Given the description of an element on the screen output the (x, y) to click on. 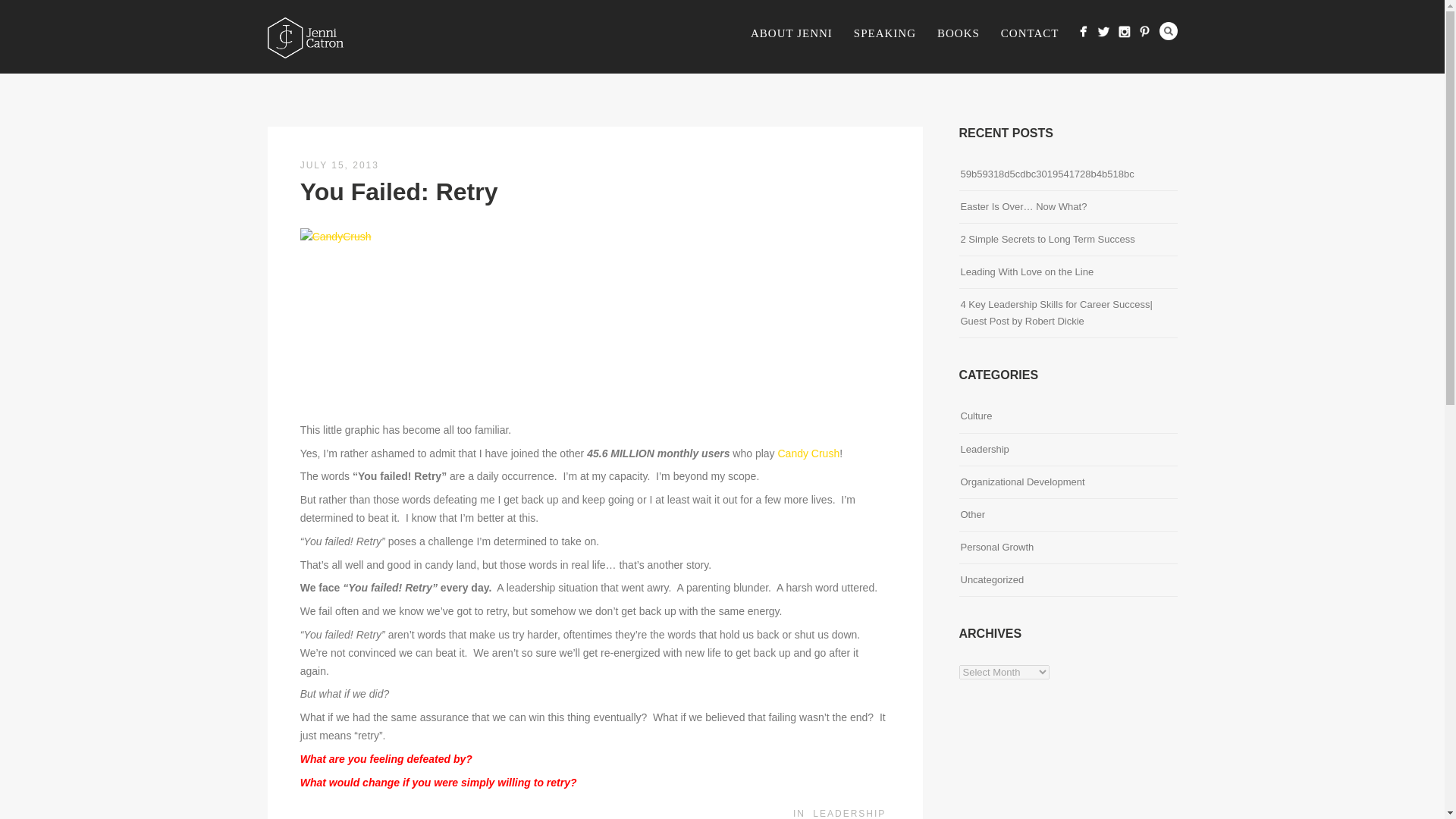
Culture (975, 415)
CONTACT (1030, 33)
59b59318d5cdbc3019541728b4b518bc (1046, 173)
ABOUT JENNI (791, 33)
Organizational Development (1021, 481)
BOOKS (958, 33)
Leading With Love on the Line (1026, 271)
2 Simple Secrets to Long Term Success (1046, 239)
LEADERSHIP (848, 813)
Search (1167, 31)
Leadership (984, 448)
SPEAKING (884, 33)
Personal Growth (996, 546)
Other (972, 514)
Candy Crush (808, 453)
